Given the description of an element on the screen output the (x, y) to click on. 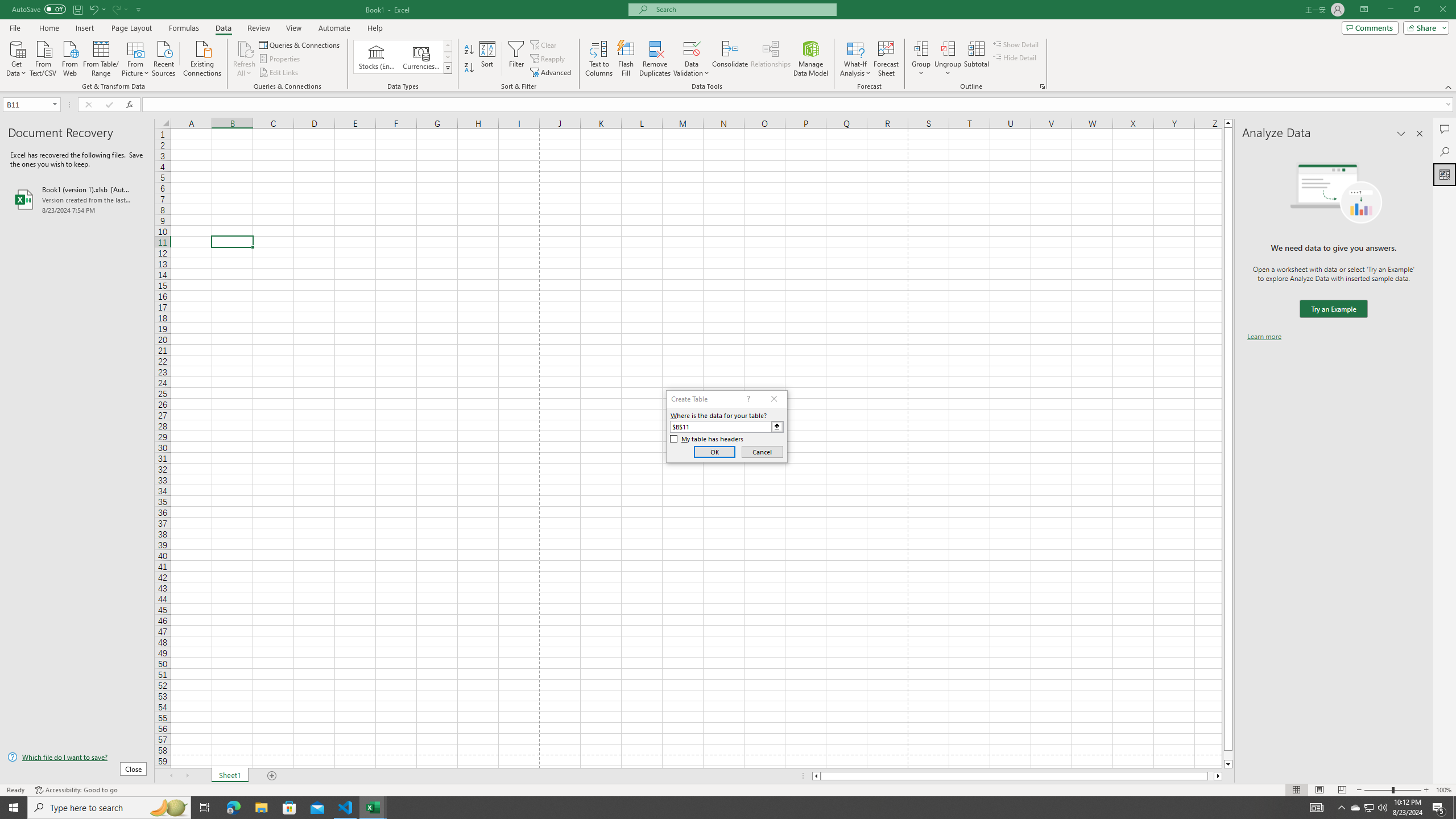
Consolidate... (729, 58)
